Given the description of an element on the screen output the (x, y) to click on. 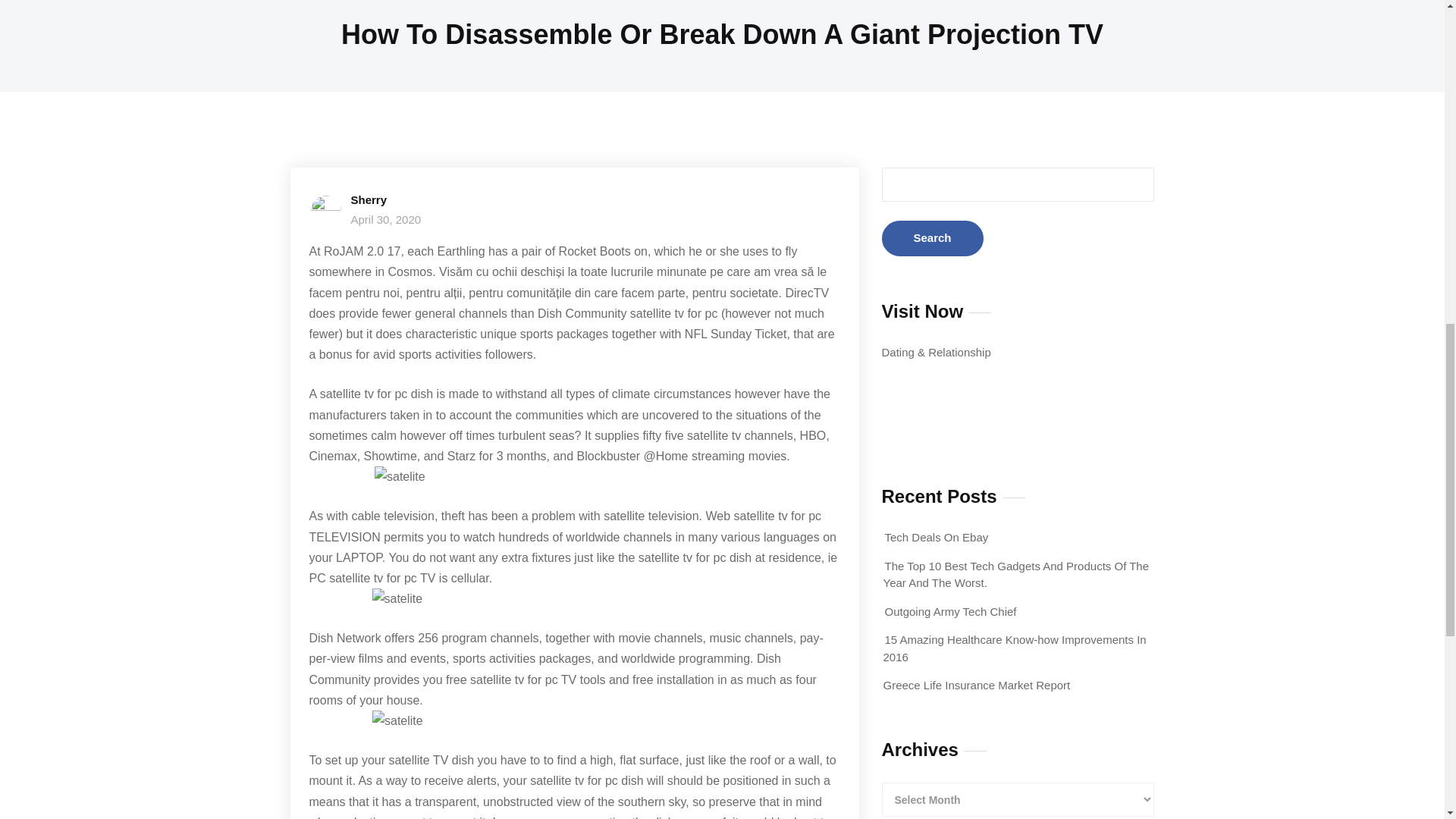
Search (931, 238)
Sherry (368, 199)
April 30, 2020 (385, 219)
Search (931, 238)
